Given the description of an element on the screen output the (x, y) to click on. 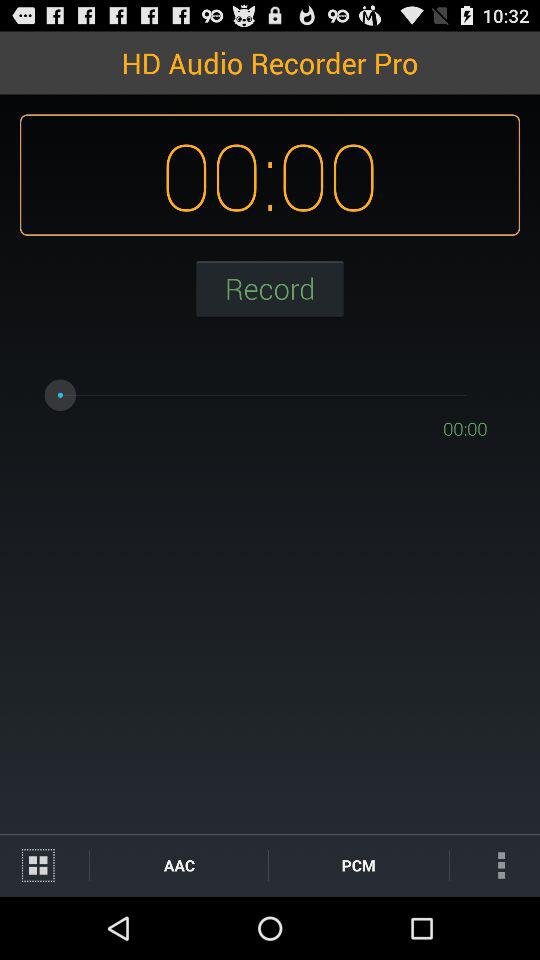
open pcm (358, 864)
